Given the description of an element on the screen output the (x, y) to click on. 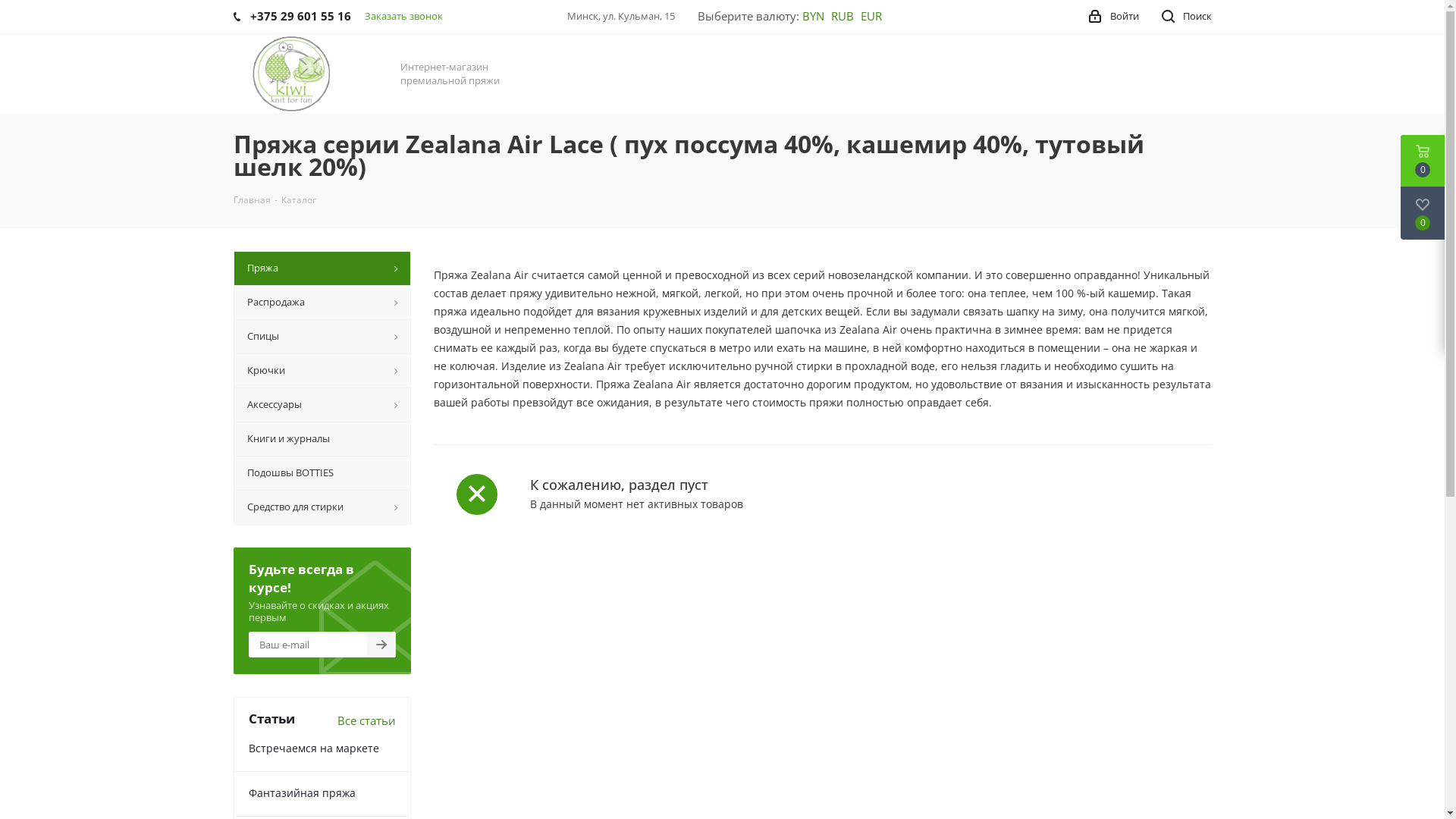
EUR Element type: text (870, 15)
BYN Element type: text (813, 15)
Kiwi-Kiwi Element type: hover (290, 73)
RUB Element type: text (842, 15)
